Given the description of an element on the screen output the (x, y) to click on. 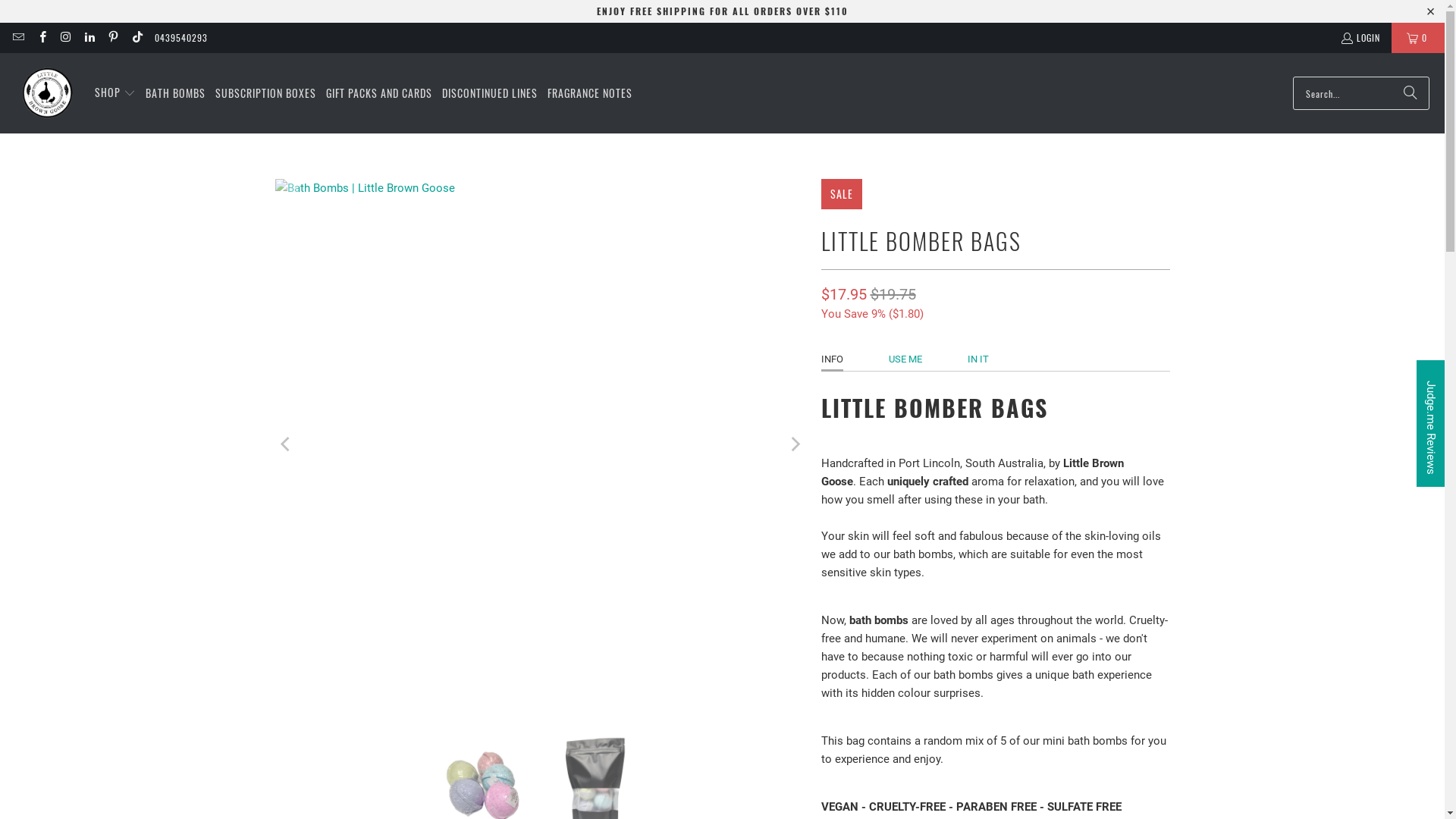
Little Brown Goose on LinkedIn Element type: hover (88, 37)
0 Element type: text (1417, 37)
Little Brown Goose on Pinterest Element type: hover (112, 37)
Email Little Brown Goose Element type: hover (17, 37)
BATH BOMBS Element type: text (175, 92)
0439540293 Element type: text (180, 37)
Little Brown Goose on TikTok Element type: hover (135, 37)
Little Brown Goose on Facebook Element type: hover (40, 37)
LOGIN Element type: text (1359, 37)
GIFT PACKS AND CARDS Element type: text (379, 92)
FRAGRANCE NOTES Element type: text (589, 92)
USE ME Element type: text (905, 359)
DISCONTINUED LINES Element type: text (489, 92)
IN IT Element type: text (977, 359)
INFO Element type: text (831, 359)
Little Brown Goose on Instagram Element type: hover (65, 37)
SUBSCRIPTION BOXES Element type: text (265, 92)
Little Brown Goose Element type: hover (47, 92)
